Given the description of an element on the screen output the (x, y) to click on. 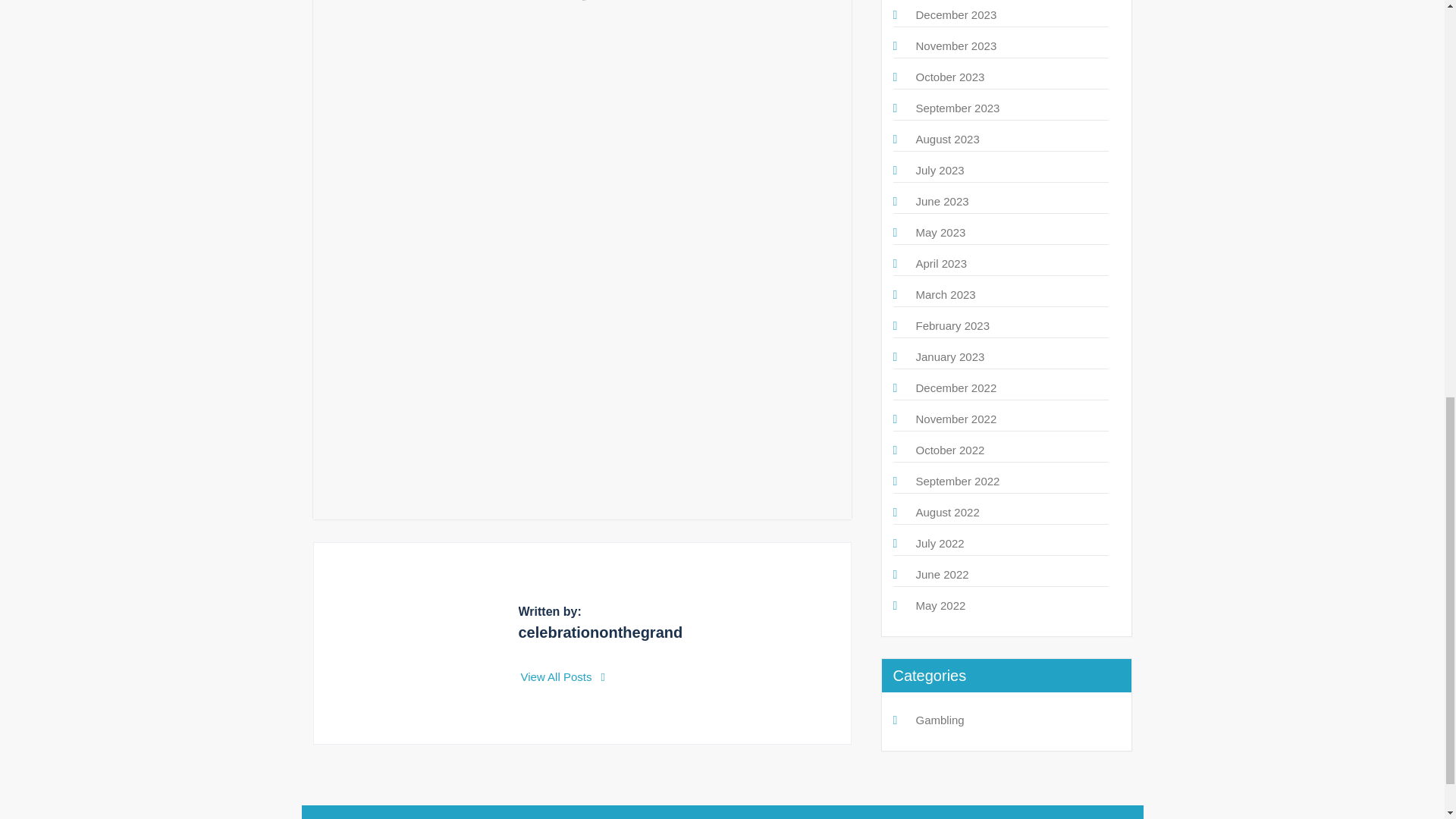
March 2023 (945, 294)
September 2023 (957, 107)
June 2023 (942, 201)
October 2022 (950, 449)
November 2023 (956, 45)
October 2023 (950, 76)
View All Posts (562, 676)
August 2023 (947, 138)
Gambling (939, 719)
February 2023 (952, 325)
